Given the description of an element on the screen output the (x, y) to click on. 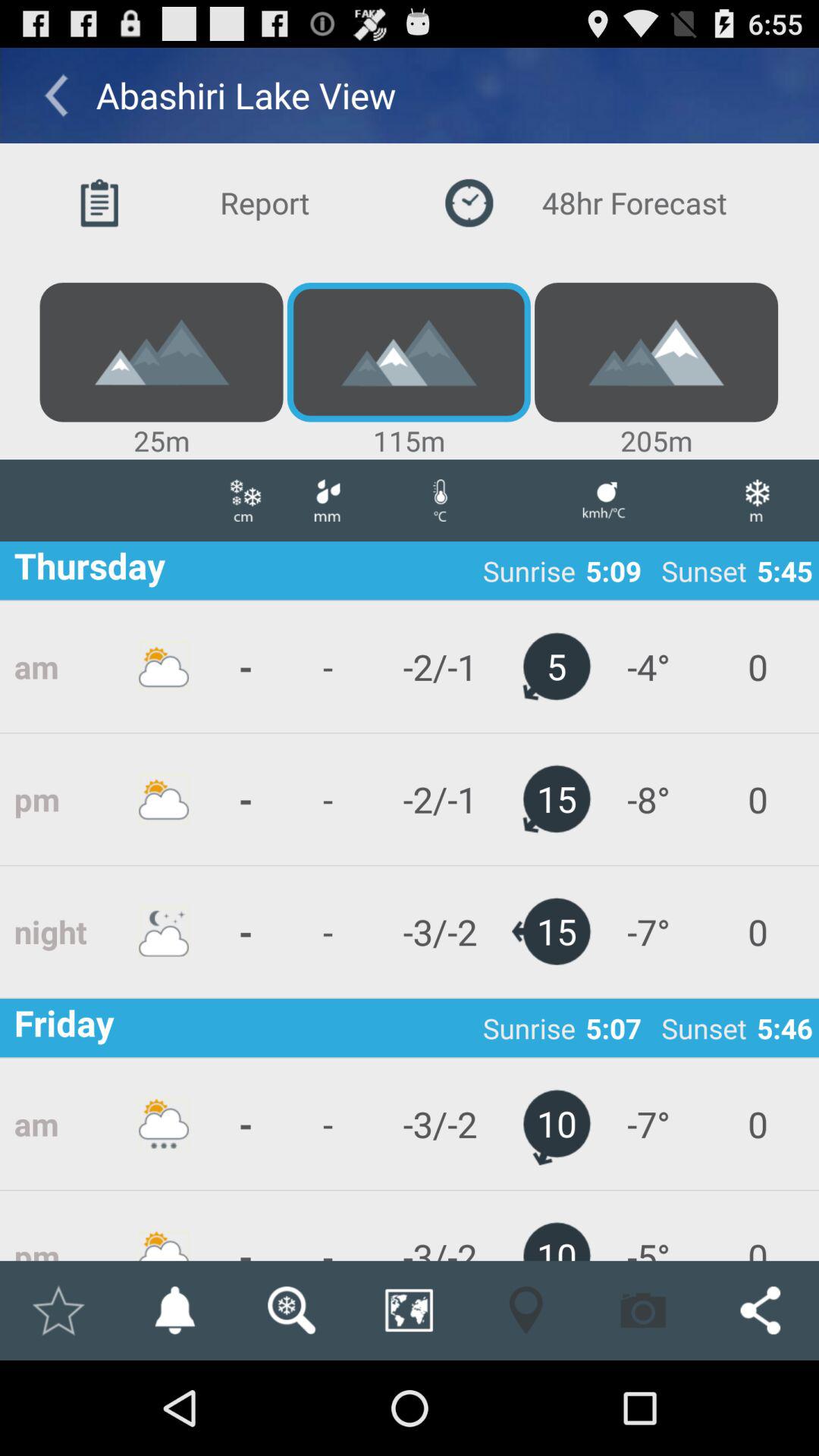
favorite page (58, 1310)
